Given the description of an element on the screen output the (x, y) to click on. 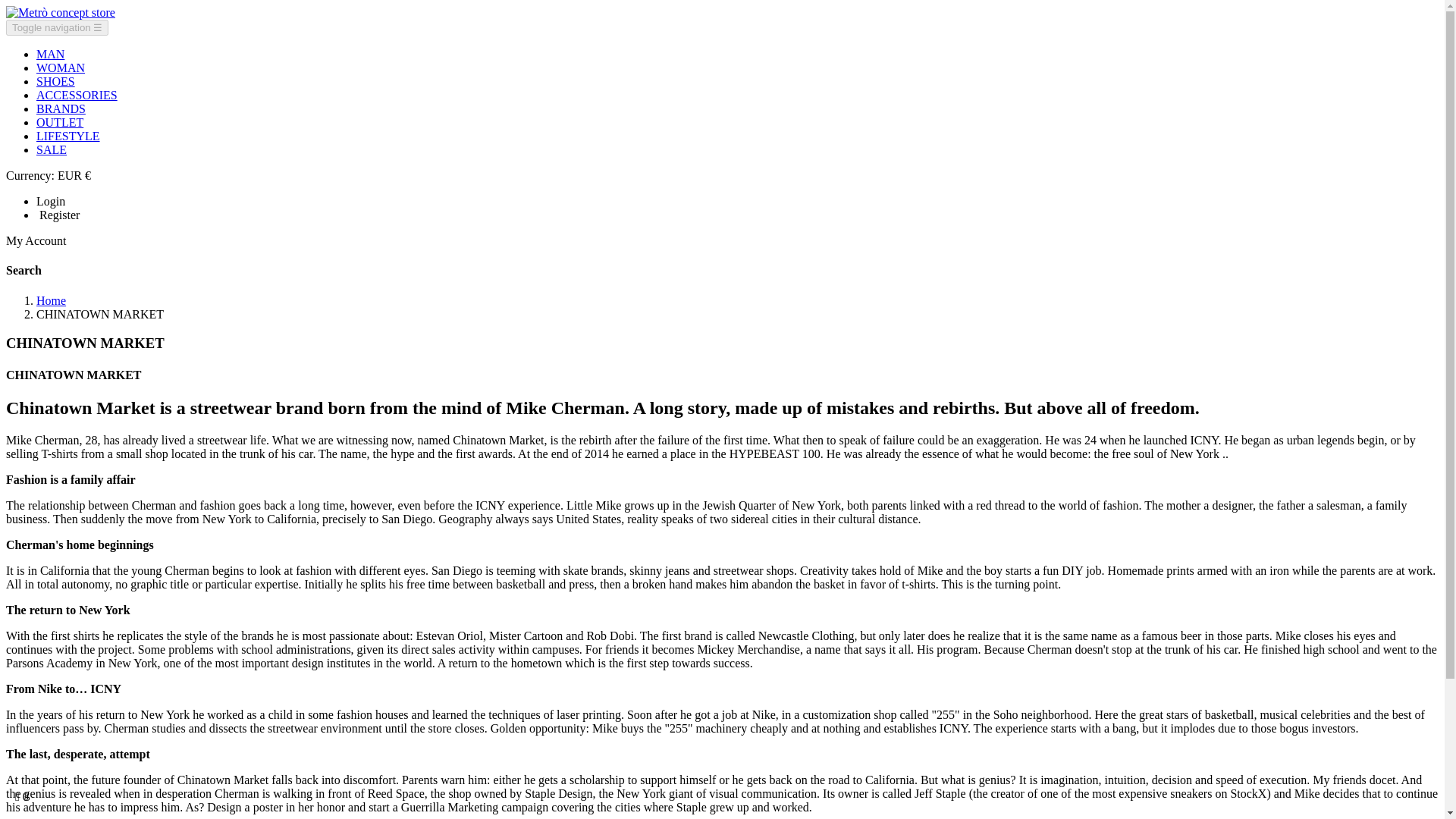
Register (58, 214)
WOMAN (60, 67)
SHOES (55, 81)
SALE (51, 149)
Login (50, 201)
Account (35, 240)
Log in to your customer account (50, 201)
 Register (58, 214)
OUTLET (59, 122)
ACCESSORIES (76, 94)
Home (50, 300)
Currency (47, 174)
BRANDS (60, 108)
LIFESTYLE (68, 135)
MAN (50, 53)
